Given the description of an element on the screen output the (x, y) to click on. 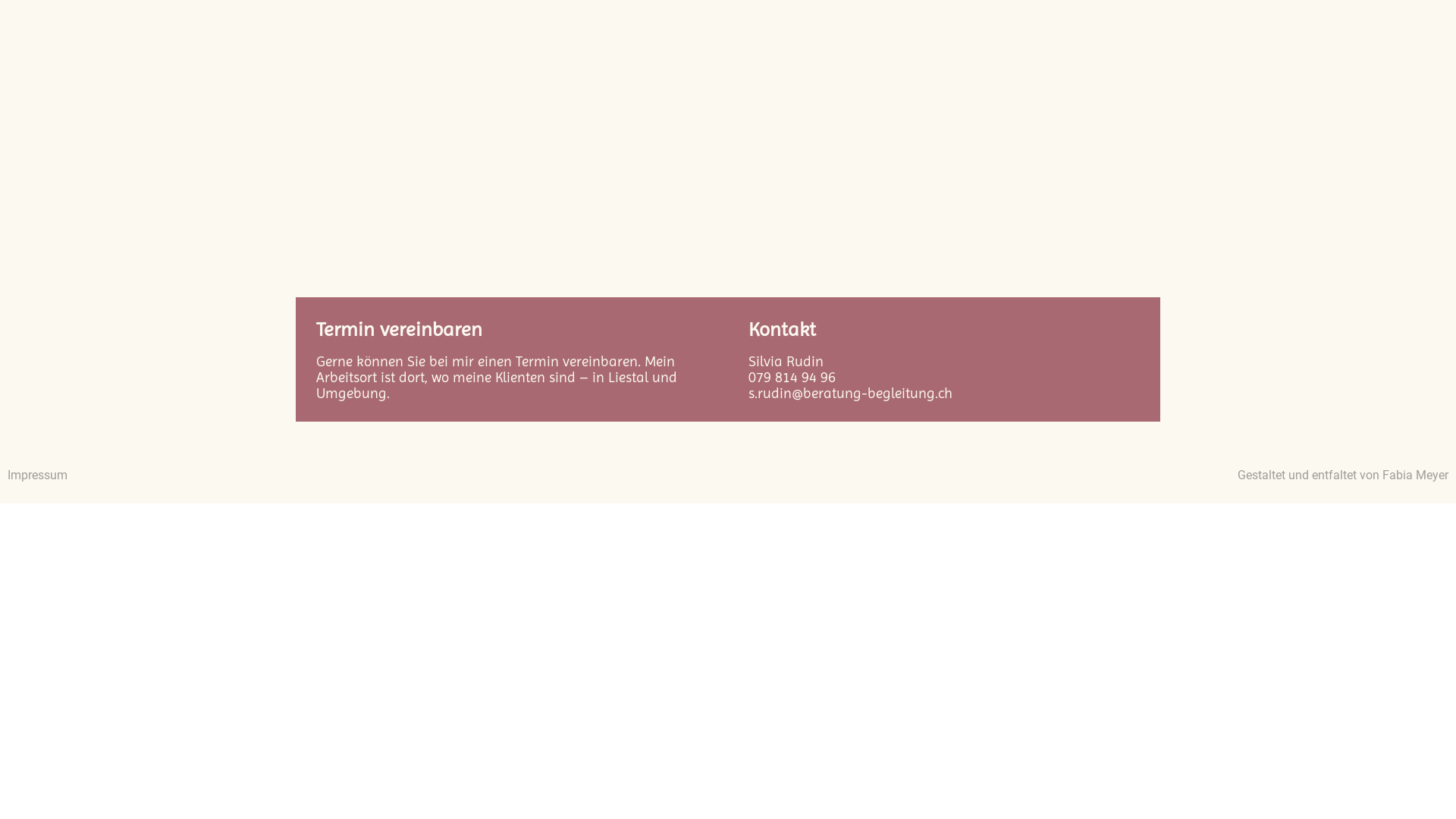
Gestaltet und entfaltet von Fabia Meyer Element type: text (1342, 474)
Impressum Element type: text (37, 474)
